Given the description of an element on the screen output the (x, y) to click on. 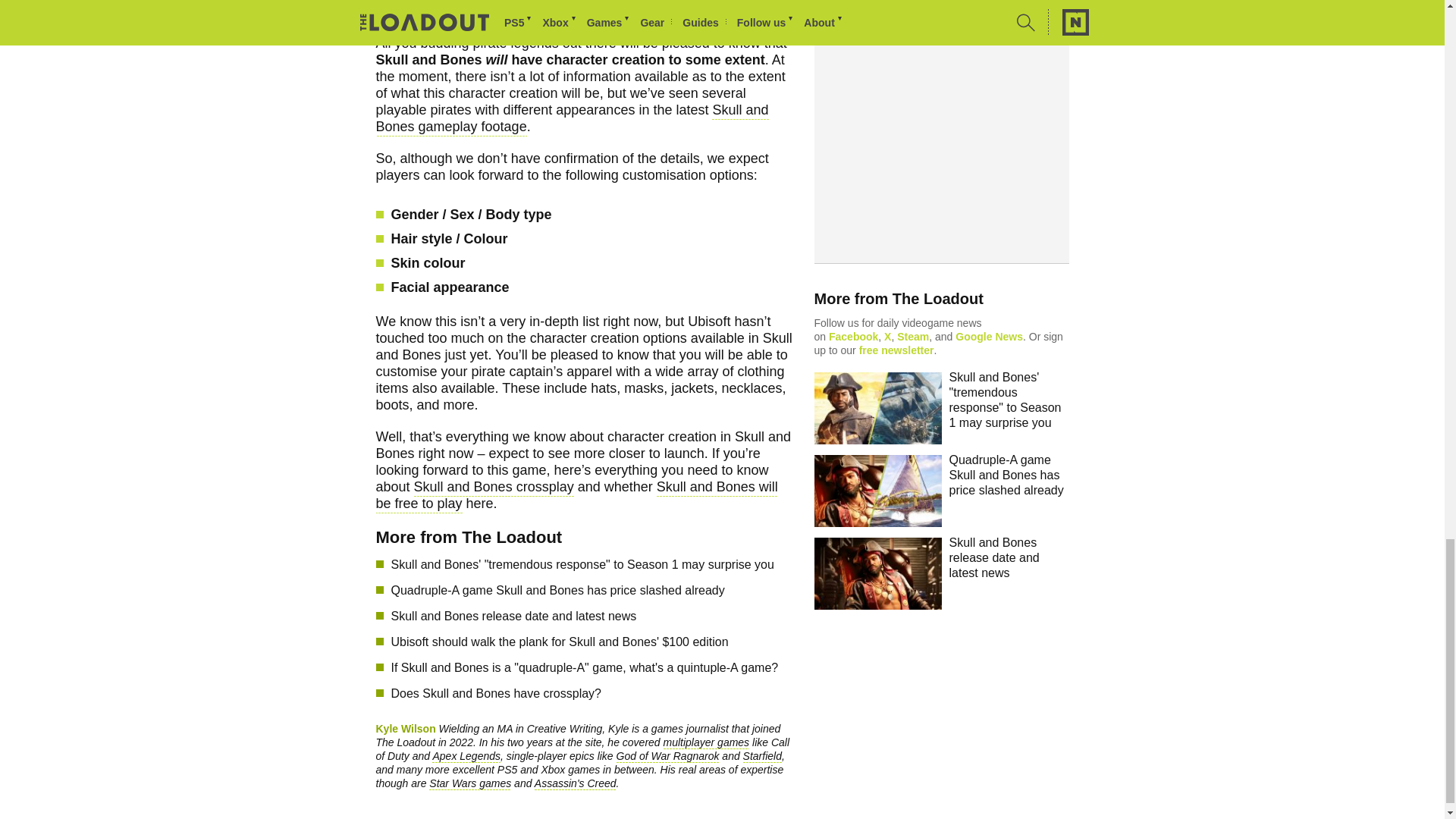
Quadruple-A game Skull and Bones has price slashed already (592, 590)
Skull and Bones release date and latest news (592, 616)
